Given the description of an element on the screen output the (x, y) to click on. 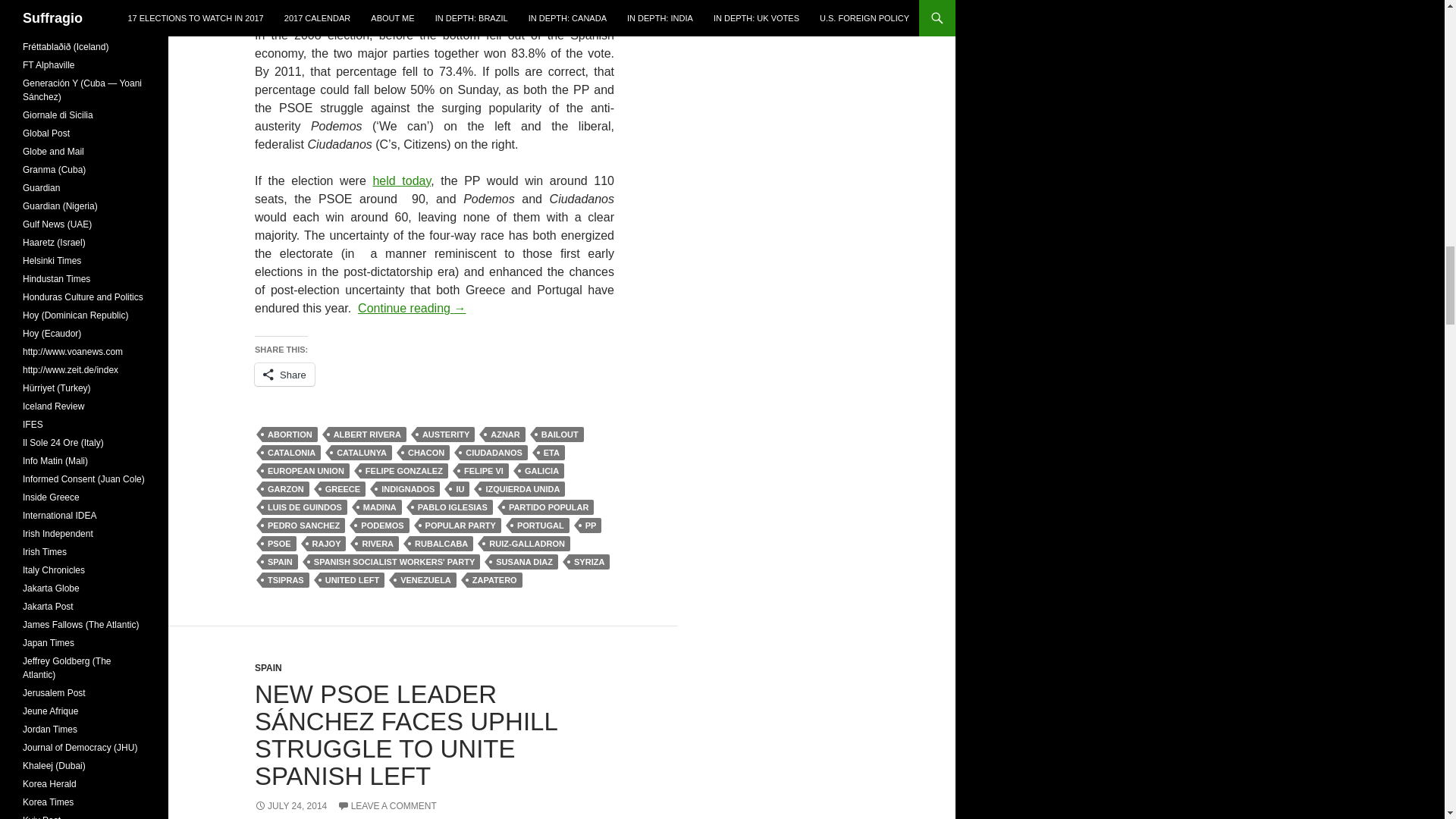
held today (401, 180)
Share (284, 374)
ALBERT RIVERA (367, 434)
ABORTION (289, 434)
BAILOUT (559, 434)
AZNAR (504, 434)
CATALONIA (291, 452)
AUSTERITY (445, 434)
